Given the description of an element on the screen output the (x, y) to click on. 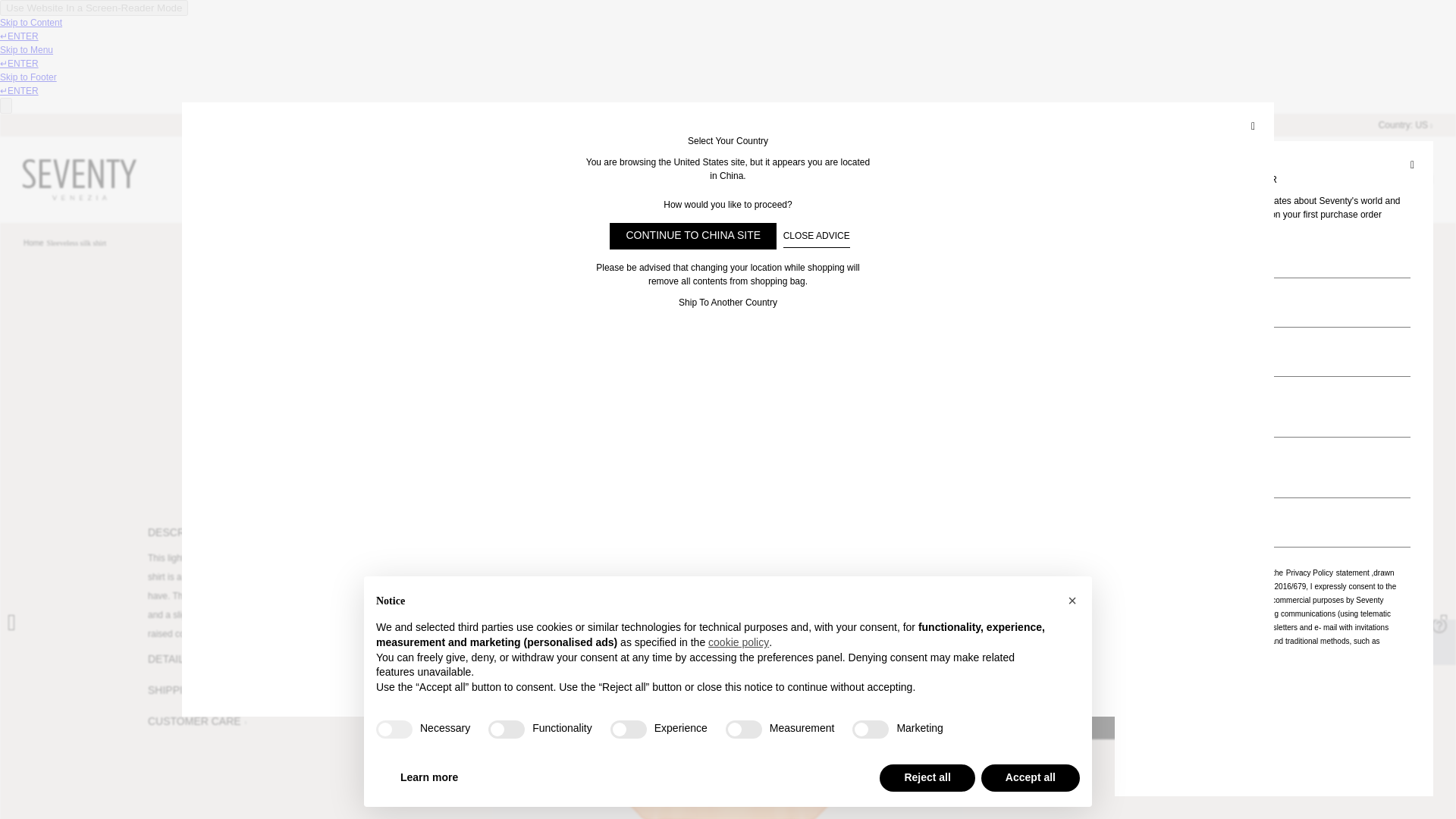
NEW COLLECTION (625, 179)
Learn more (428, 777)
false (628, 729)
on (1143, 575)
Accept all (1030, 777)
false (869, 729)
false (743, 729)
Country: US (1404, 124)
true (393, 729)
WOMAN SALES (731, 179)
CAMPAIGN (818, 179)
Reject all (926, 777)
STORIES (888, 179)
Seventy Venezia Official Store (79, 179)
Add to Cart (1197, 725)
